Given the description of an element on the screen output the (x, y) to click on. 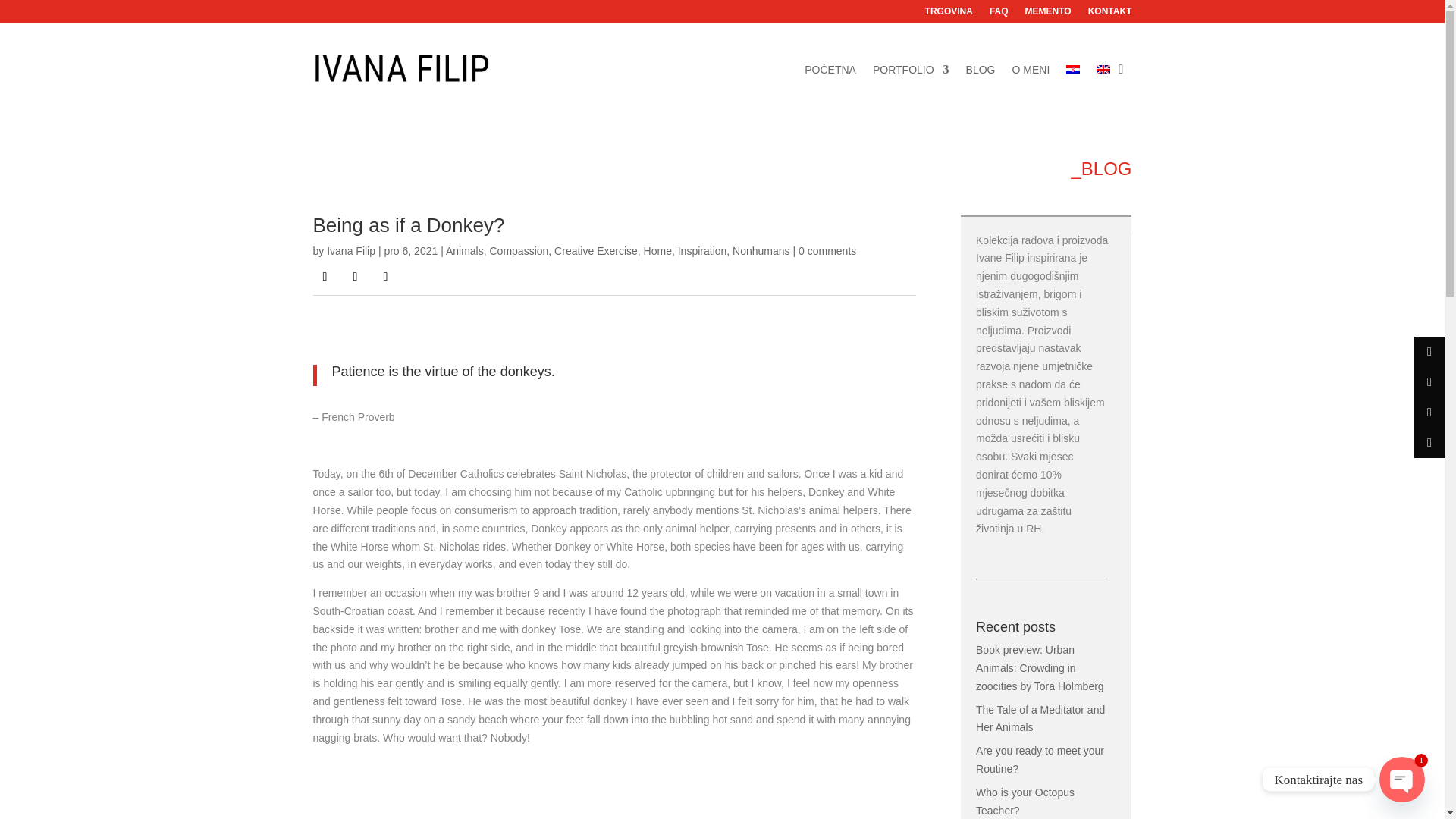
MEMENTO (1048, 13)
KONTAKT (1109, 13)
Follow on Youtube (384, 276)
PORTFOLIO (910, 68)
Animals (464, 250)
Follow on Facebook (324, 276)
Posts by Ivana Filip (350, 250)
TRGOVINA (948, 13)
FAQ (999, 13)
Ivana Filip (350, 250)
Follow on Instagram (354, 276)
